Given the description of an element on the screen output the (x, y) to click on. 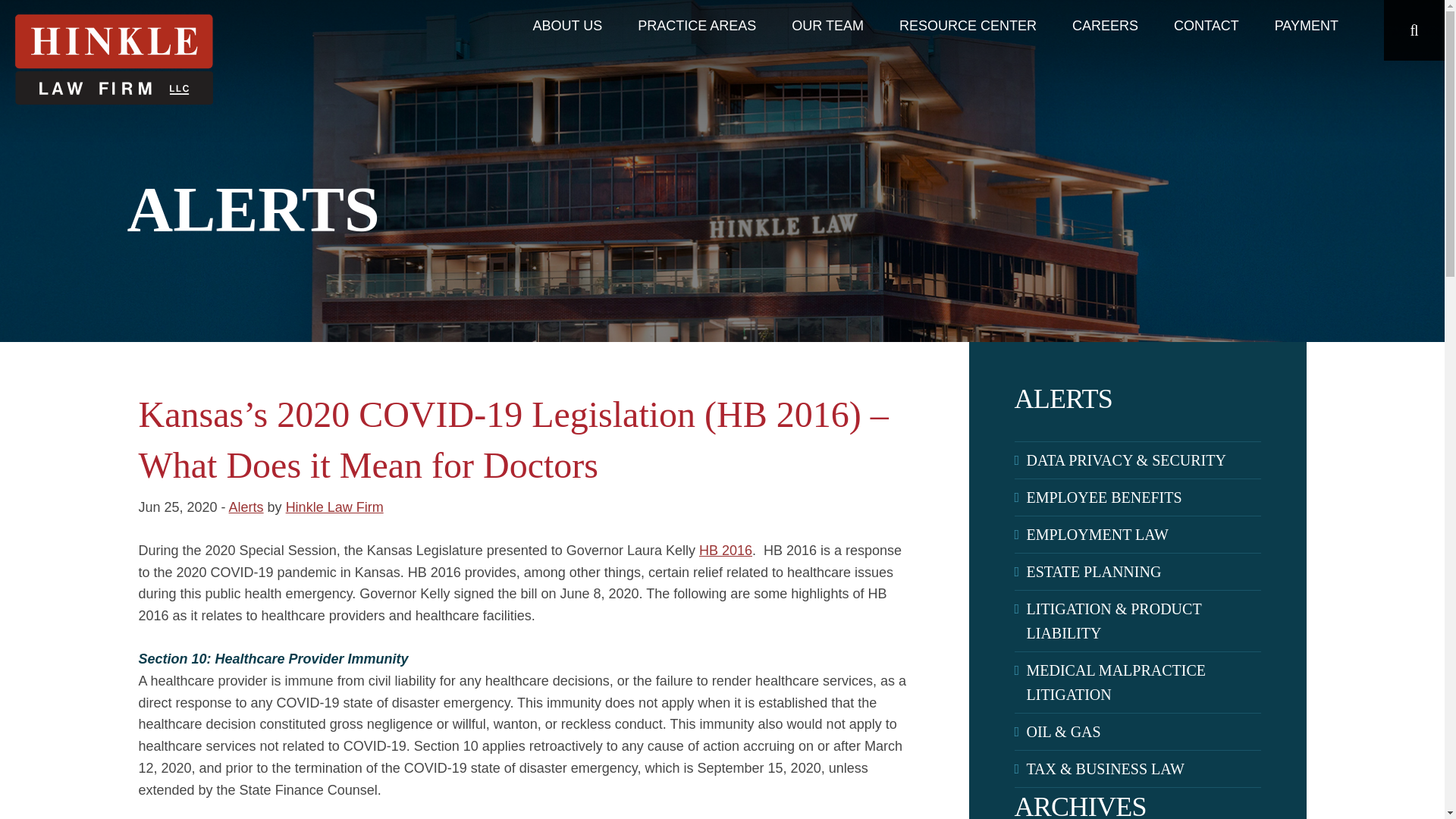
CONTACT (1206, 25)
Posts by Hinkle Law Firm (334, 507)
Hinkle Law Firm (334, 507)
ABOUT US (568, 25)
RESOURCE CENTER (968, 25)
PAYMENT (1306, 25)
CAREERS (1104, 25)
EMPLOYEE BENEFITS (1143, 497)
Alerts (245, 507)
ESTATE PLANNING (1143, 571)
EMPLOYMENT LAW (1143, 534)
PRACTICE AREAS (696, 25)
OUR TEAM (827, 25)
HB 2016 (725, 549)
